Given the description of an element on the screen output the (x, y) to click on. 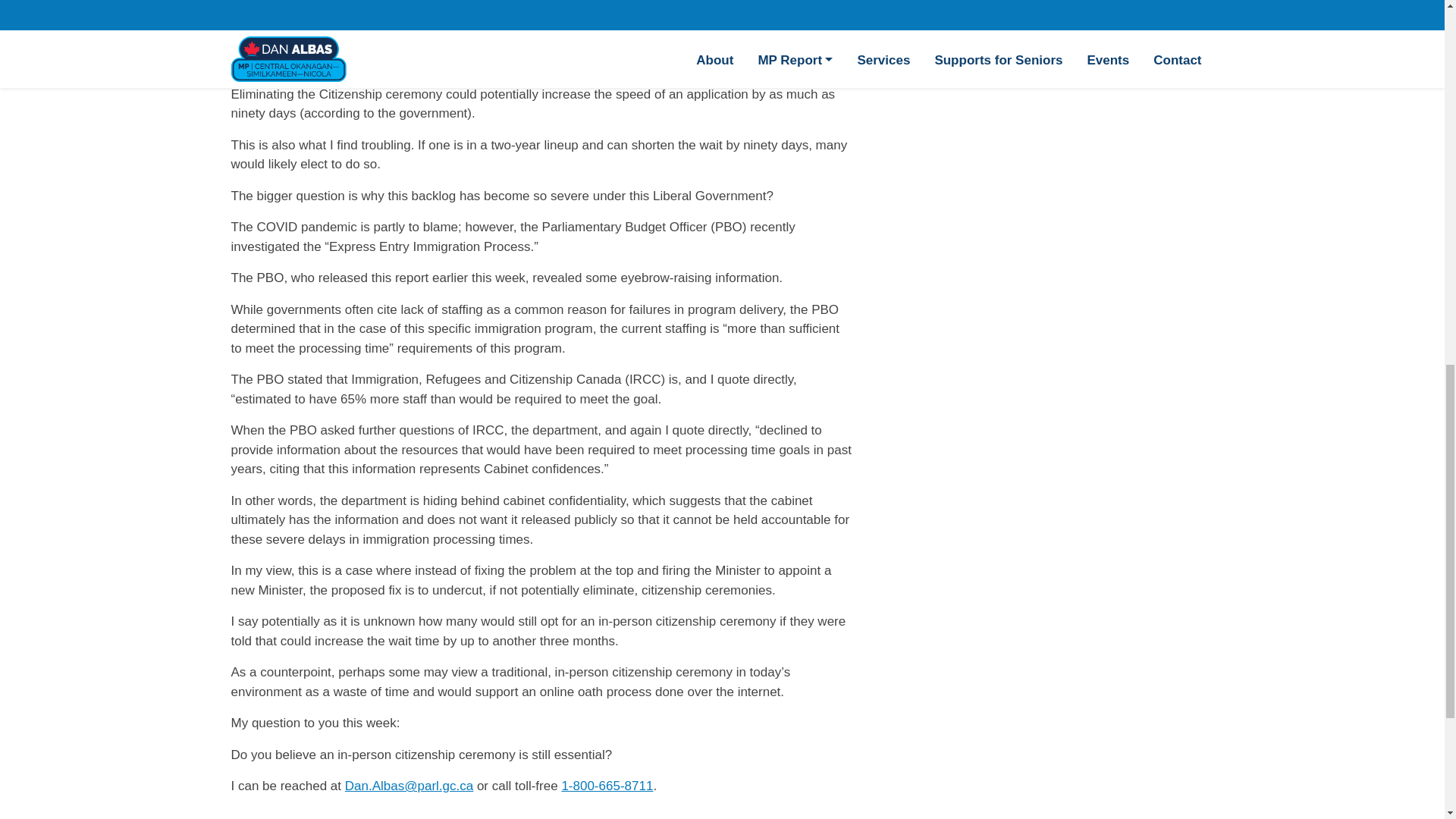
1-800-665-8711 (606, 785)
